Given the description of an element on the screen output the (x, y) to click on. 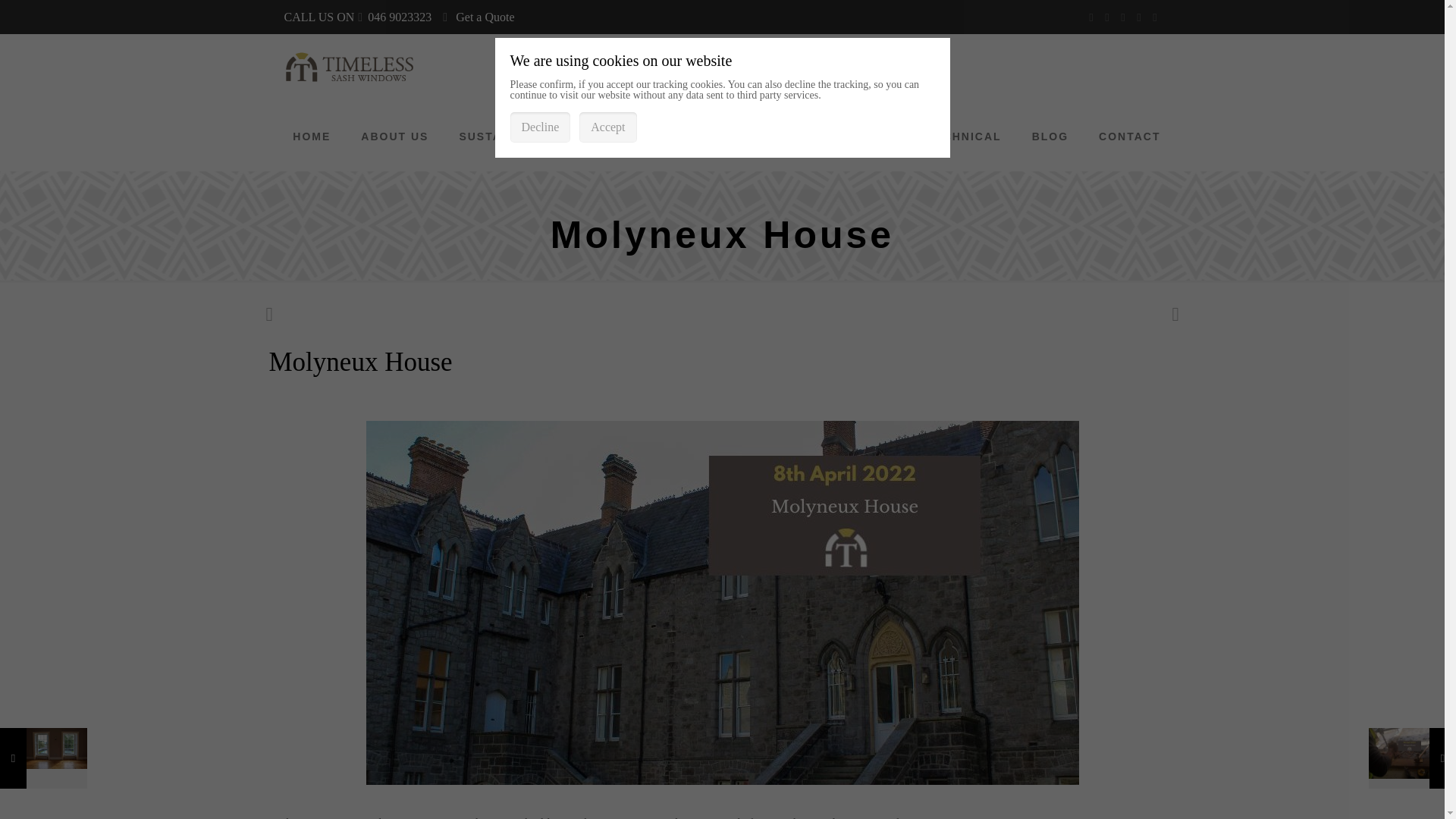
Facebook (1091, 17)
046 9023323 (399, 16)
Get a Quote (484, 16)
SUSTAINABILITY (513, 136)
HOME (312, 136)
CASE STUDIES (747, 136)
PRODUCTS (633, 136)
Instagram (1155, 17)
Timeless Sash Windows (348, 68)
PROJECTS (860, 136)
Pinterest (1138, 17)
LinkedIn (1123, 17)
ABOUT US (395, 136)
TECHNICAL (963, 136)
